Given the description of an element on the screen output the (x, y) to click on. 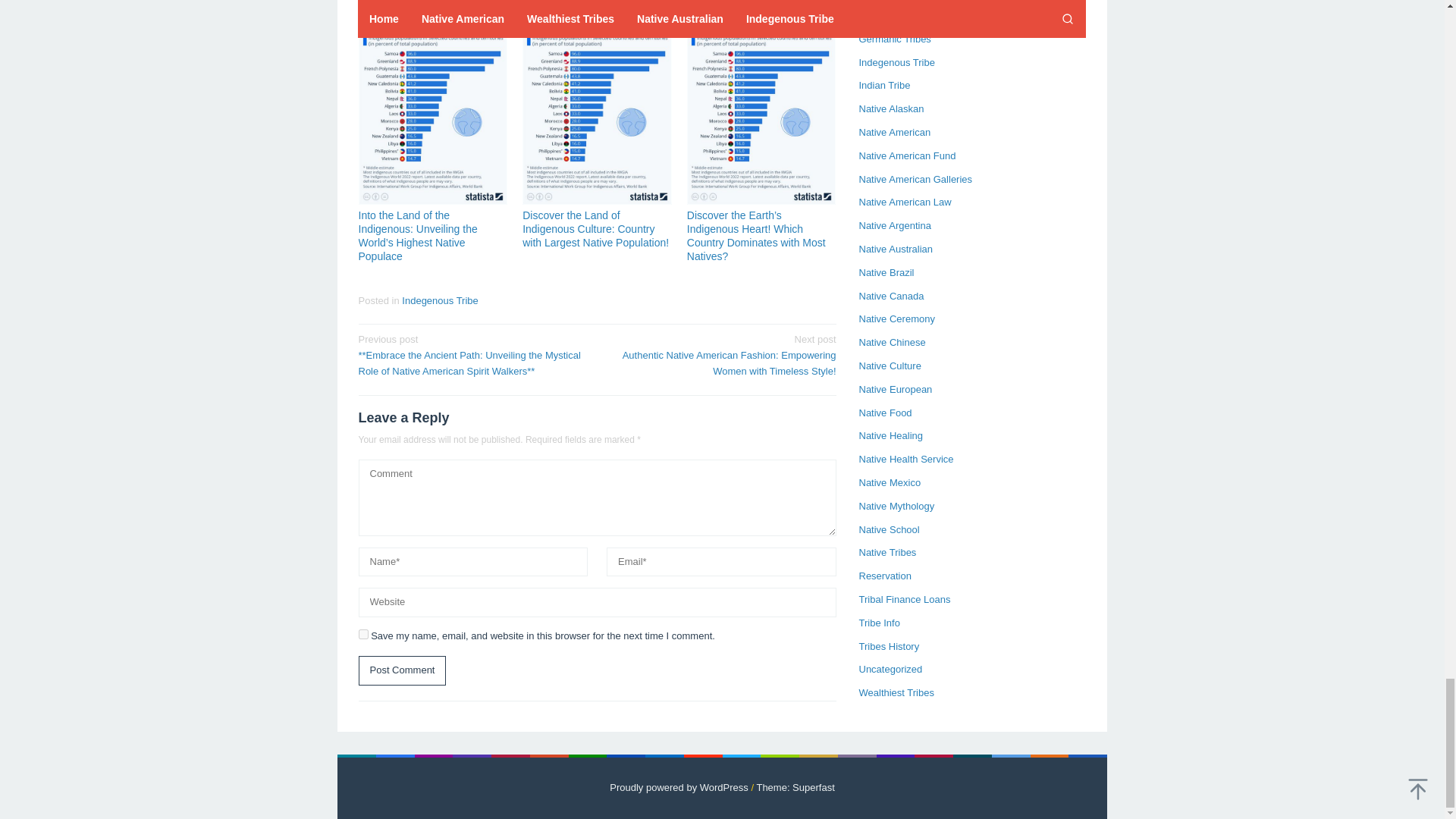
yes (363, 634)
Post Comment (401, 670)
Indegenous Tribe (439, 300)
Post Comment (401, 670)
